Given the description of an element on the screen output the (x, y) to click on. 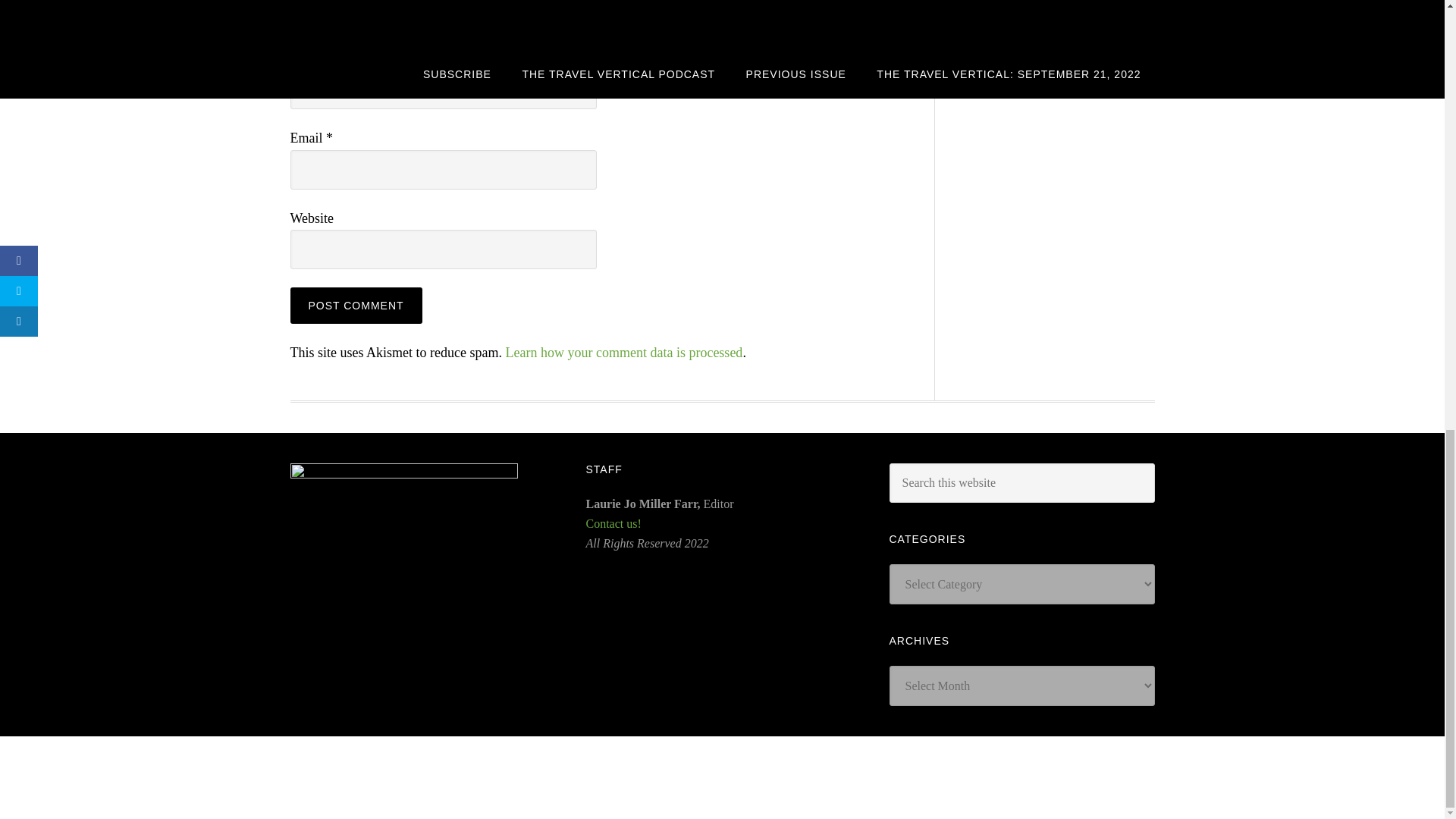
Post Comment (355, 305)
Contact us! (612, 522)
Learn how your comment data is processed (623, 352)
Post Comment (355, 305)
